Given the description of an element on the screen output the (x, y) to click on. 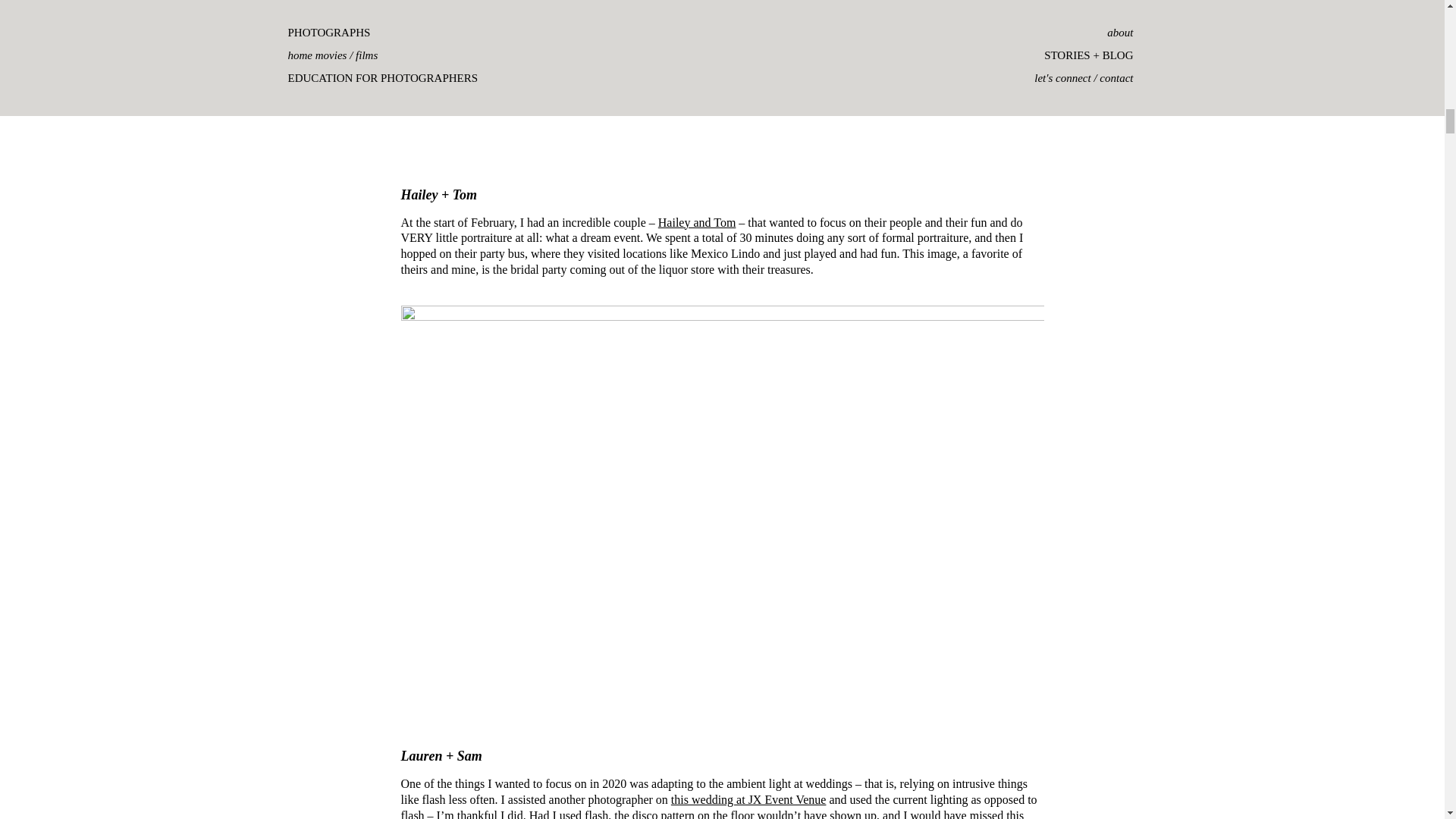
Hailey and Tom (697, 222)
this wedding at JX Event Venue (749, 799)
